Given the description of an element on the screen output the (x, y) to click on. 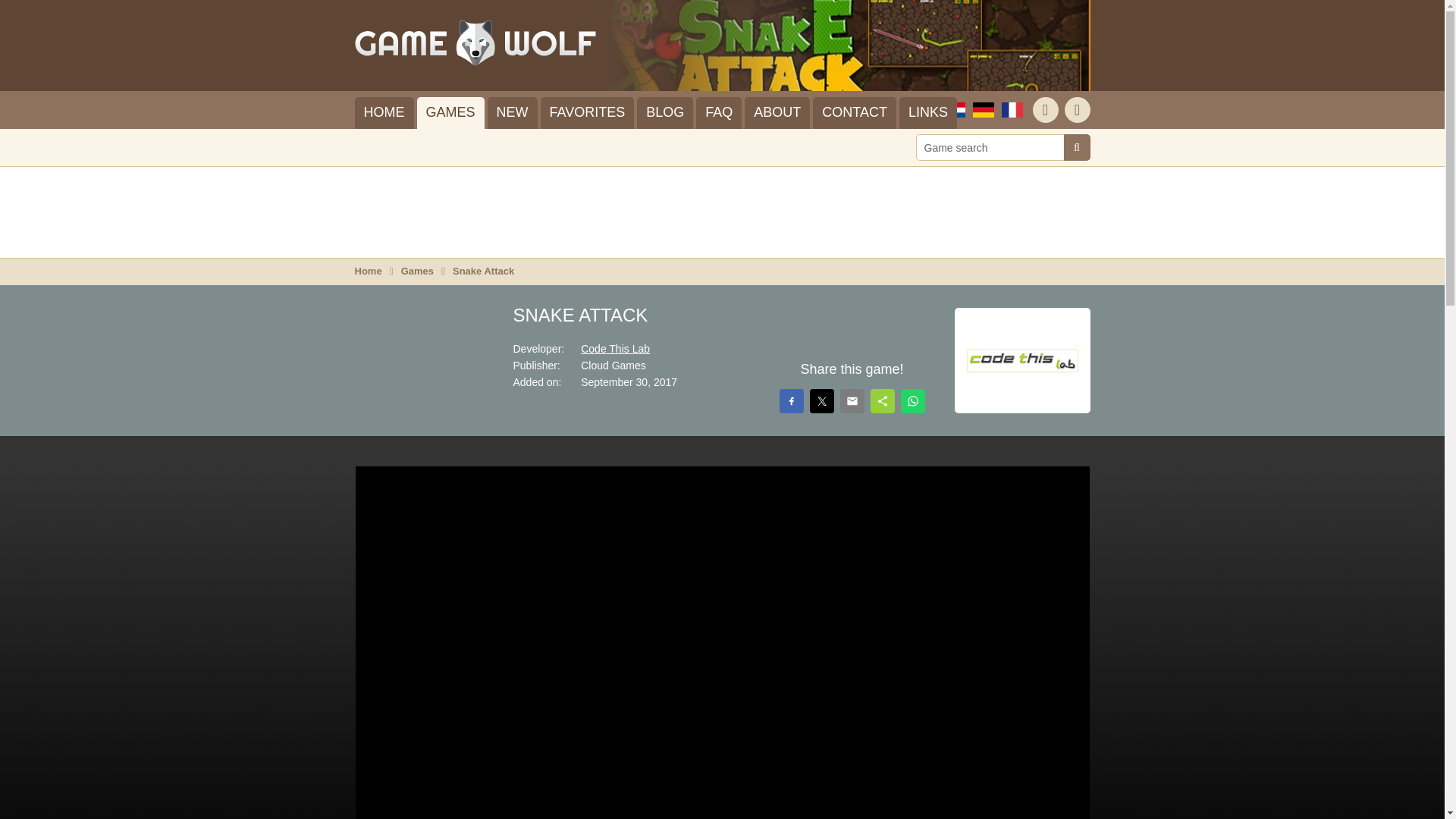
Advertisement (722, 212)
HOME (384, 112)
Twitter (1077, 109)
GAMES (450, 112)
Facebook (1045, 109)
